Given the description of an element on the screen output the (x, y) to click on. 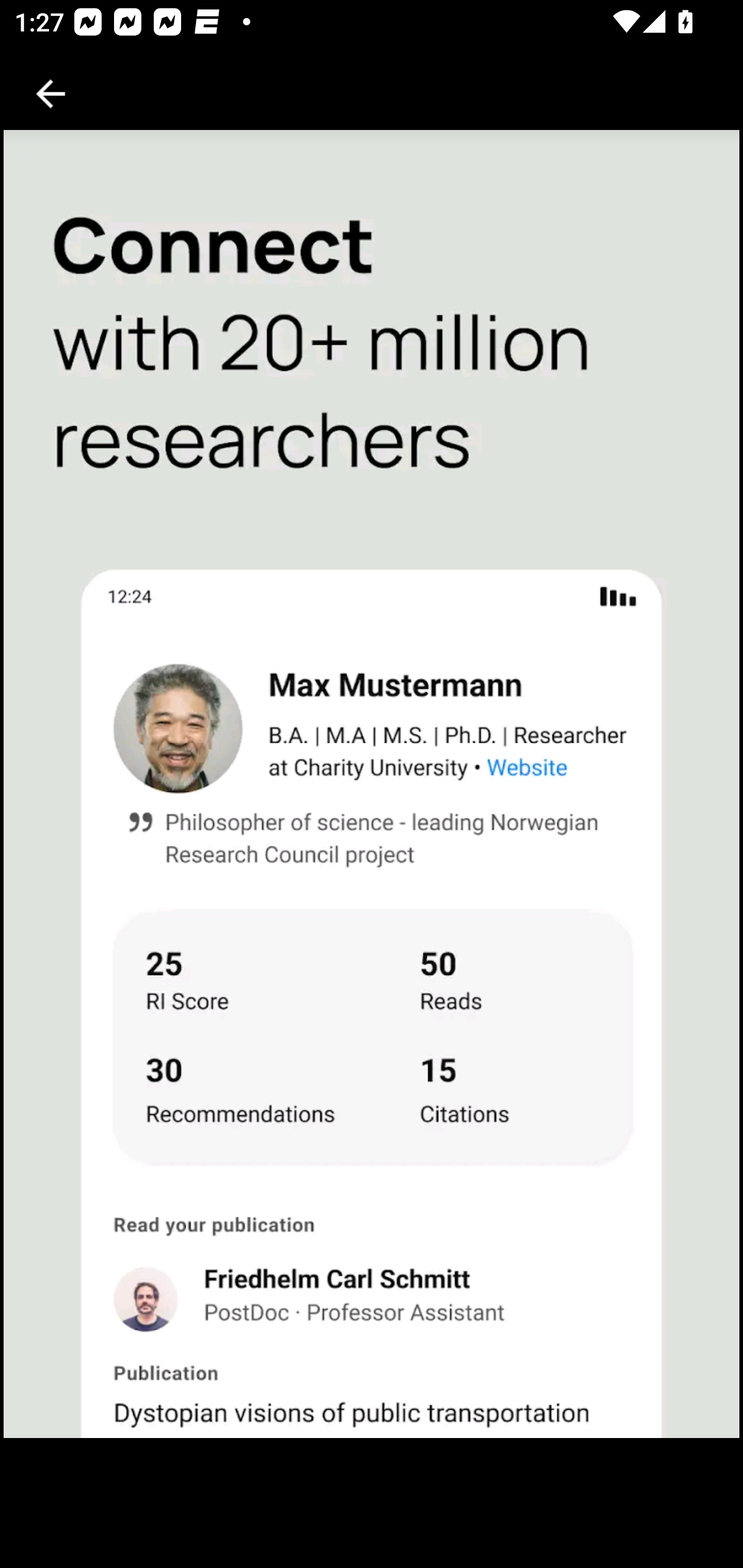
Back (50, 93)
